Given the description of an element on the screen output the (x, y) to click on. 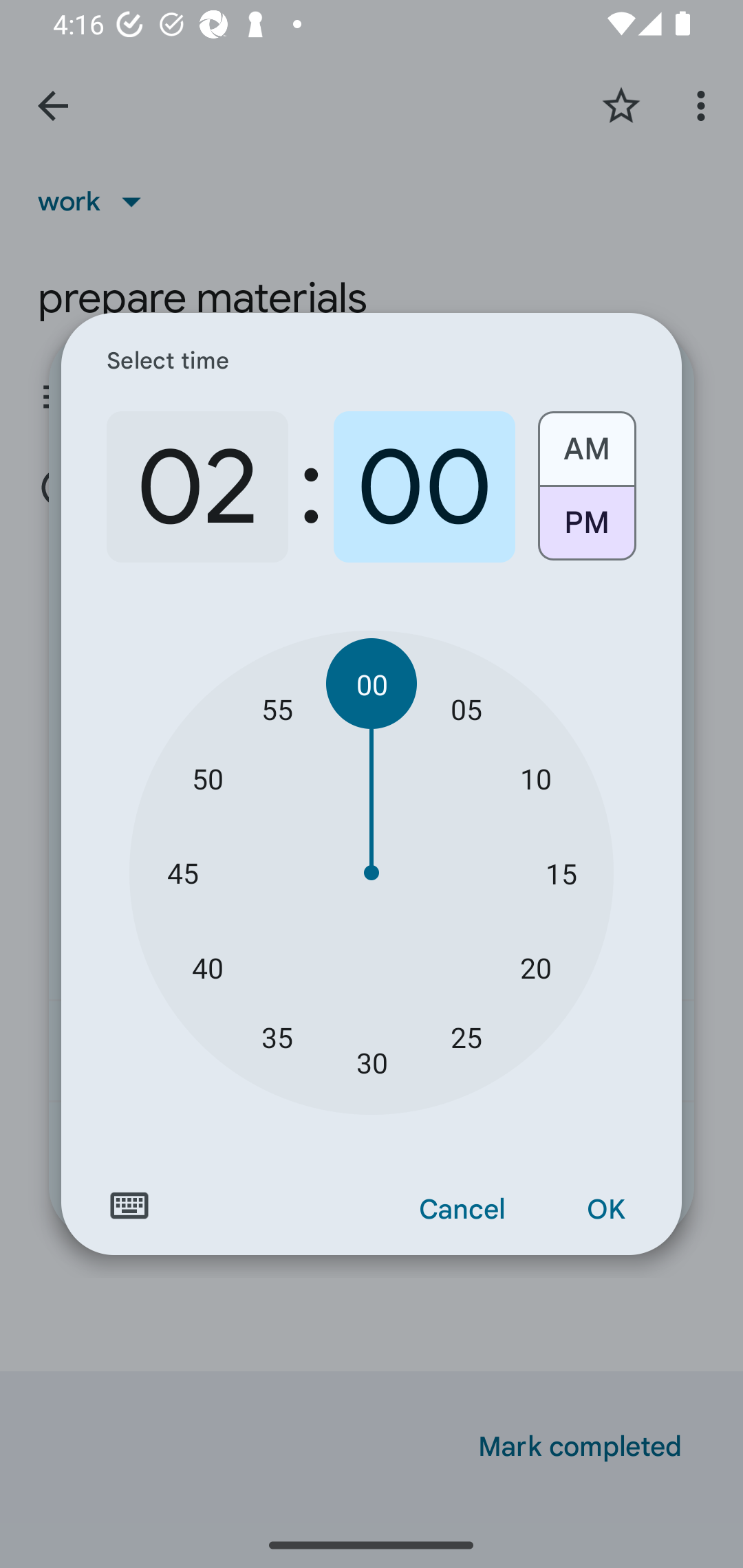
AM (586, 441)
02 2 o'clock (197, 486)
00 0 minutes (424, 486)
PM (586, 529)
00 00 minutes (371, 683)
55 55 minutes (276, 708)
05 05 minutes (466, 708)
50 50 minutes (207, 778)
10 10 minutes (535, 778)
45 45 minutes (182, 872)
15 15 minutes (561, 872)
40 40 minutes (207, 966)
20 20 minutes (535, 966)
35 35 minutes (276, 1035)
25 25 minutes (466, 1035)
30 30 minutes (371, 1062)
Switch to text input mode for the time input. (128, 1205)
Cancel (462, 1209)
OK (605, 1209)
